Given the description of an element on the screen output the (x, y) to click on. 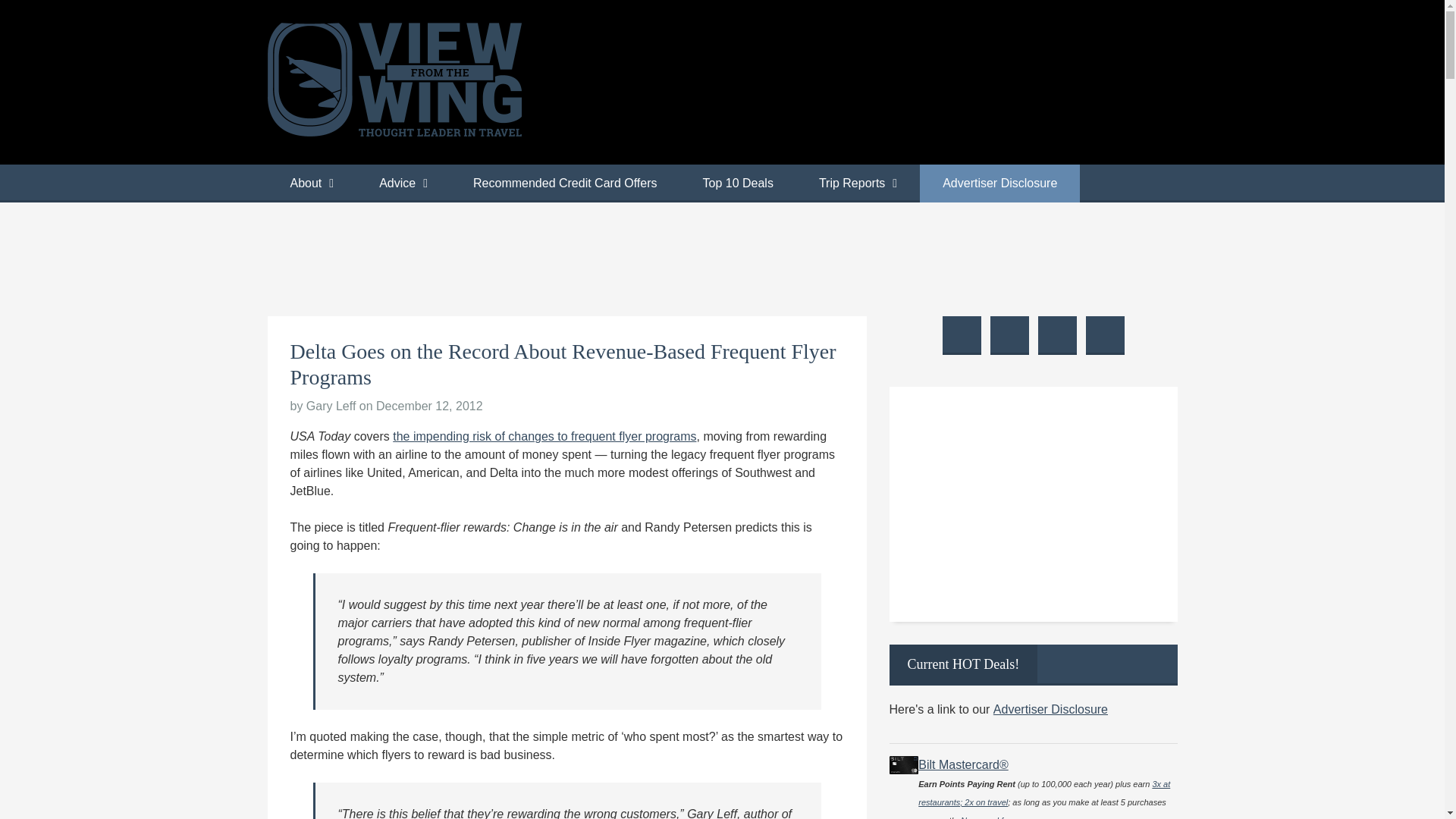
Recommended Credit Card Offers (564, 183)
Advice (402, 183)
Top 10 Deals (736, 183)
Advertiser Disclosure (1000, 183)
the impending risk of changes to frequent flyer programs (544, 436)
Gary Leff (330, 405)
About (311, 183)
Trip Reports (858, 183)
